Given the description of an element on the screen output the (x, y) to click on. 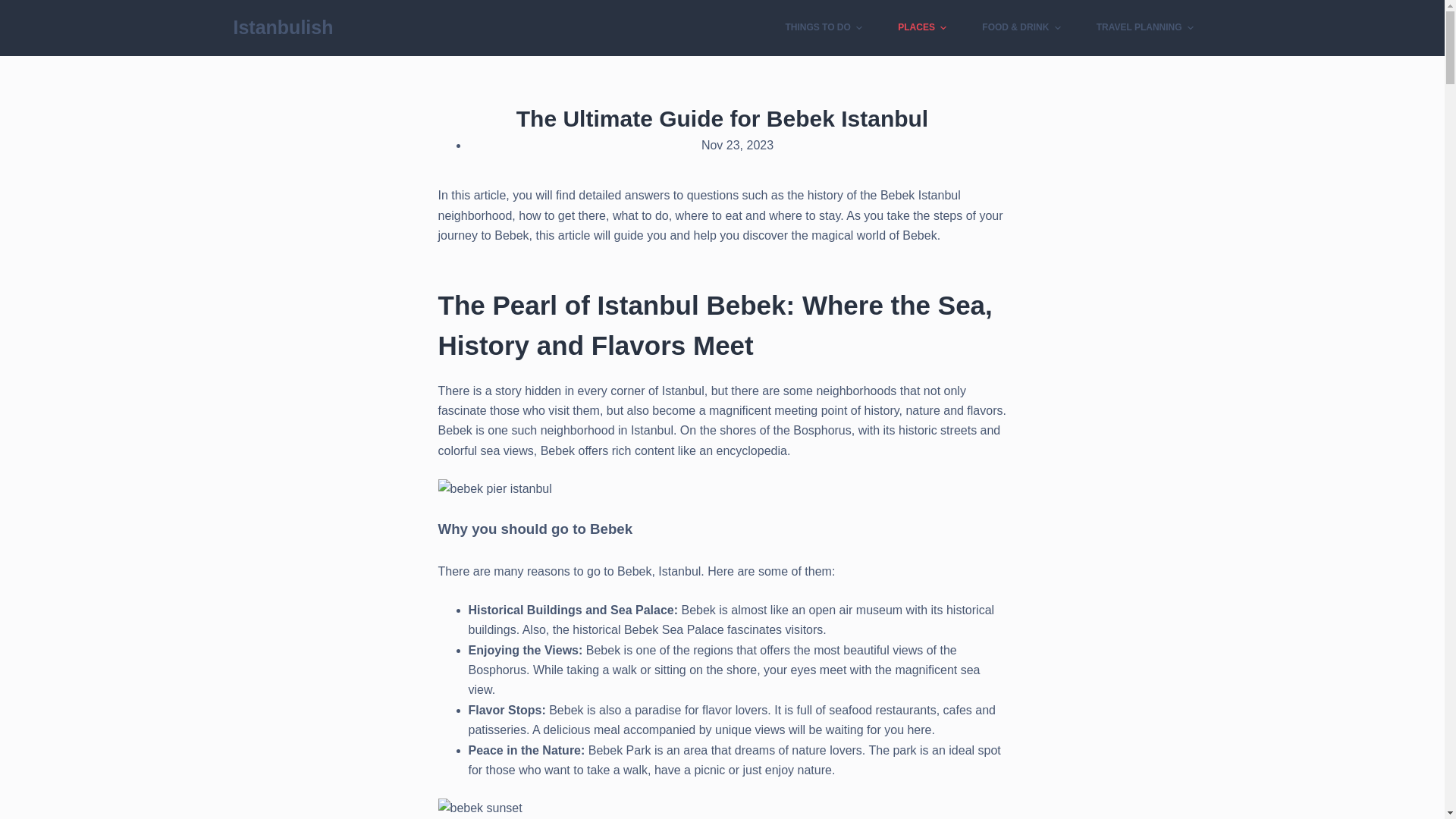
The Ultimate Guide for Bebek Istanbul (722, 118)
Istanbulish (282, 26)
Skip to content (15, 7)
